Given the description of an element on the screen output the (x, y) to click on. 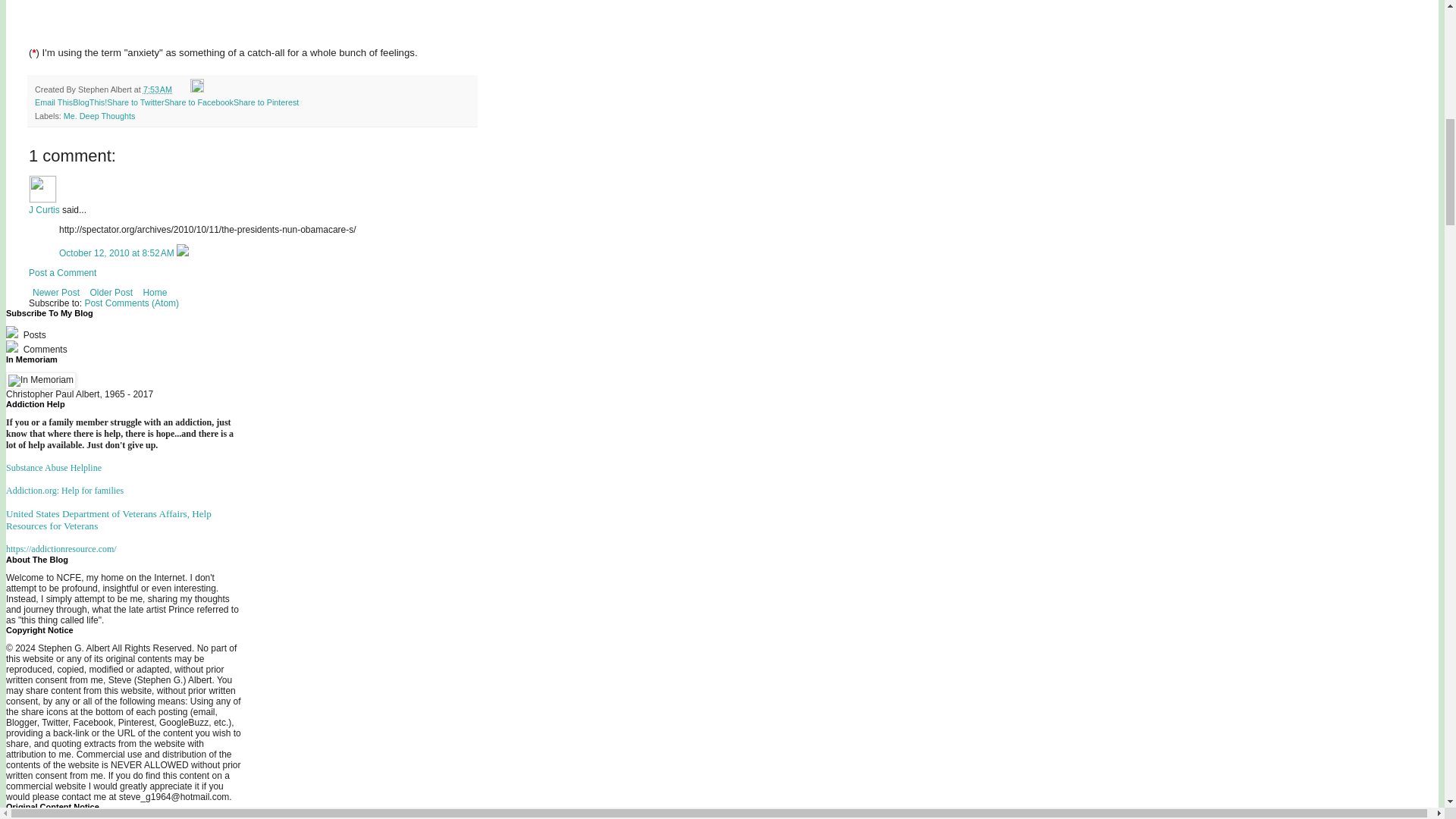
Email Post (182, 89)
J Curtis (42, 189)
permanent link (156, 89)
Older Post (110, 292)
Share to Facebook (198, 102)
Share to Twitter (134, 102)
Share to Pinterest (265, 102)
Share to Pinterest (265, 102)
Share to Facebook (198, 102)
BlogThis! (89, 102)
comment permalink (117, 253)
Email This (53, 102)
Me. Deep Thoughts (99, 115)
Edit Post (196, 89)
